Given the description of an element on the screen output the (x, y) to click on. 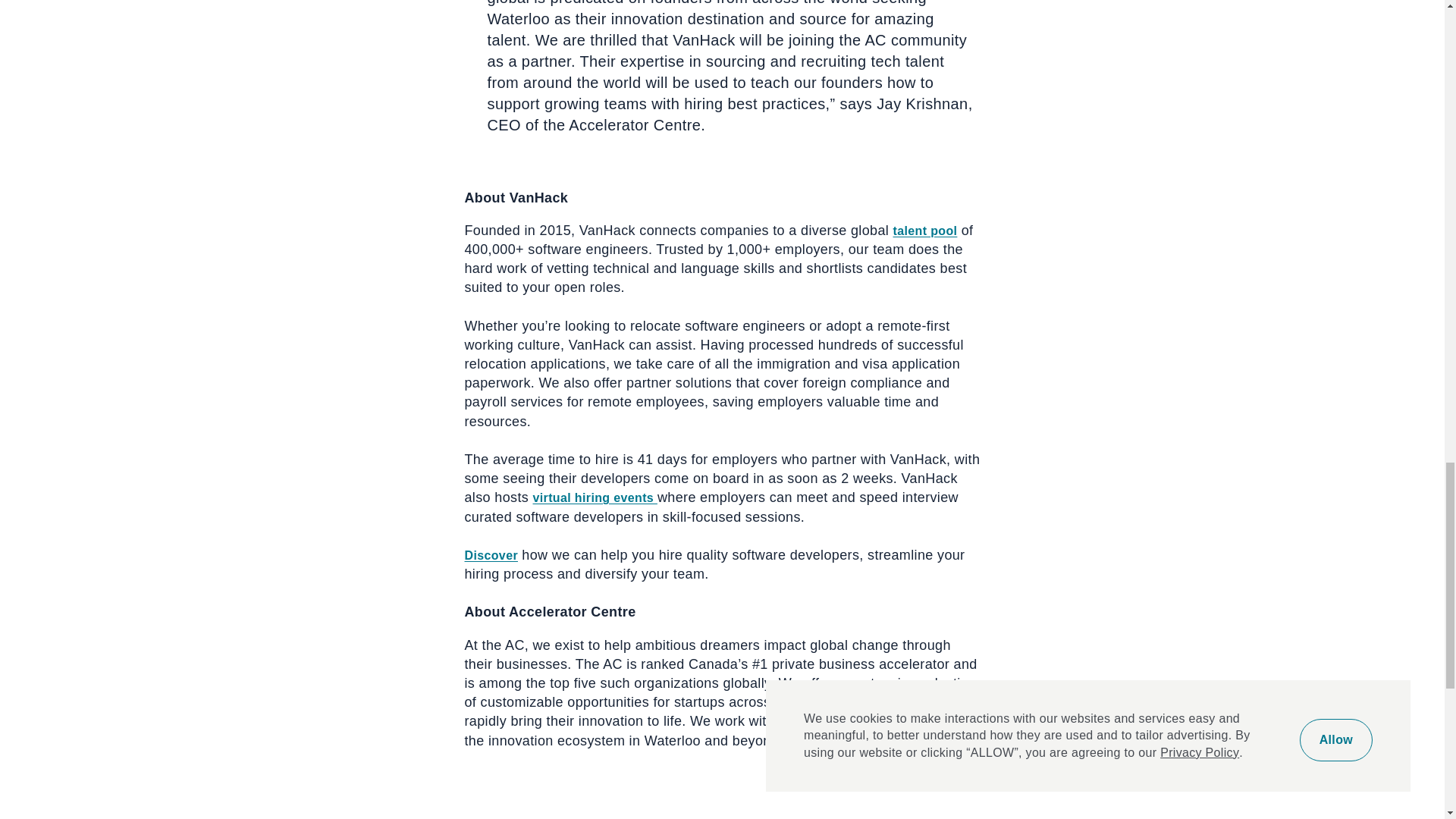
Discover (490, 554)
virtual hiring events (595, 497)
talent pool (925, 230)
